Given the description of an element on the screen output the (x, y) to click on. 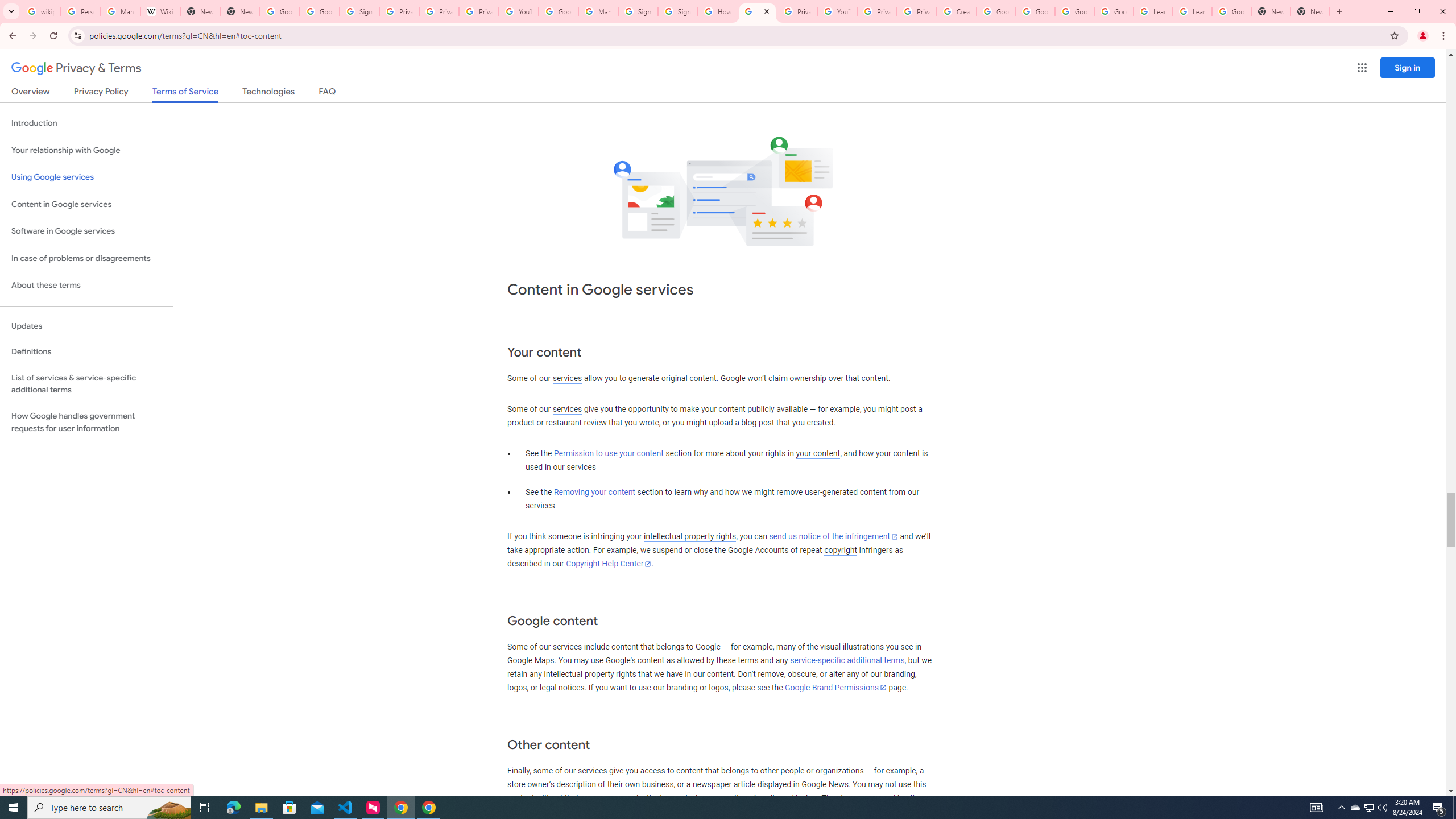
Create your Google Account (956, 11)
YouTube (836, 11)
Your relationship with Google (86, 150)
Copyright Help Center (609, 564)
New Tab (1310, 11)
